Given the description of an element on the screen output the (x, y) to click on. 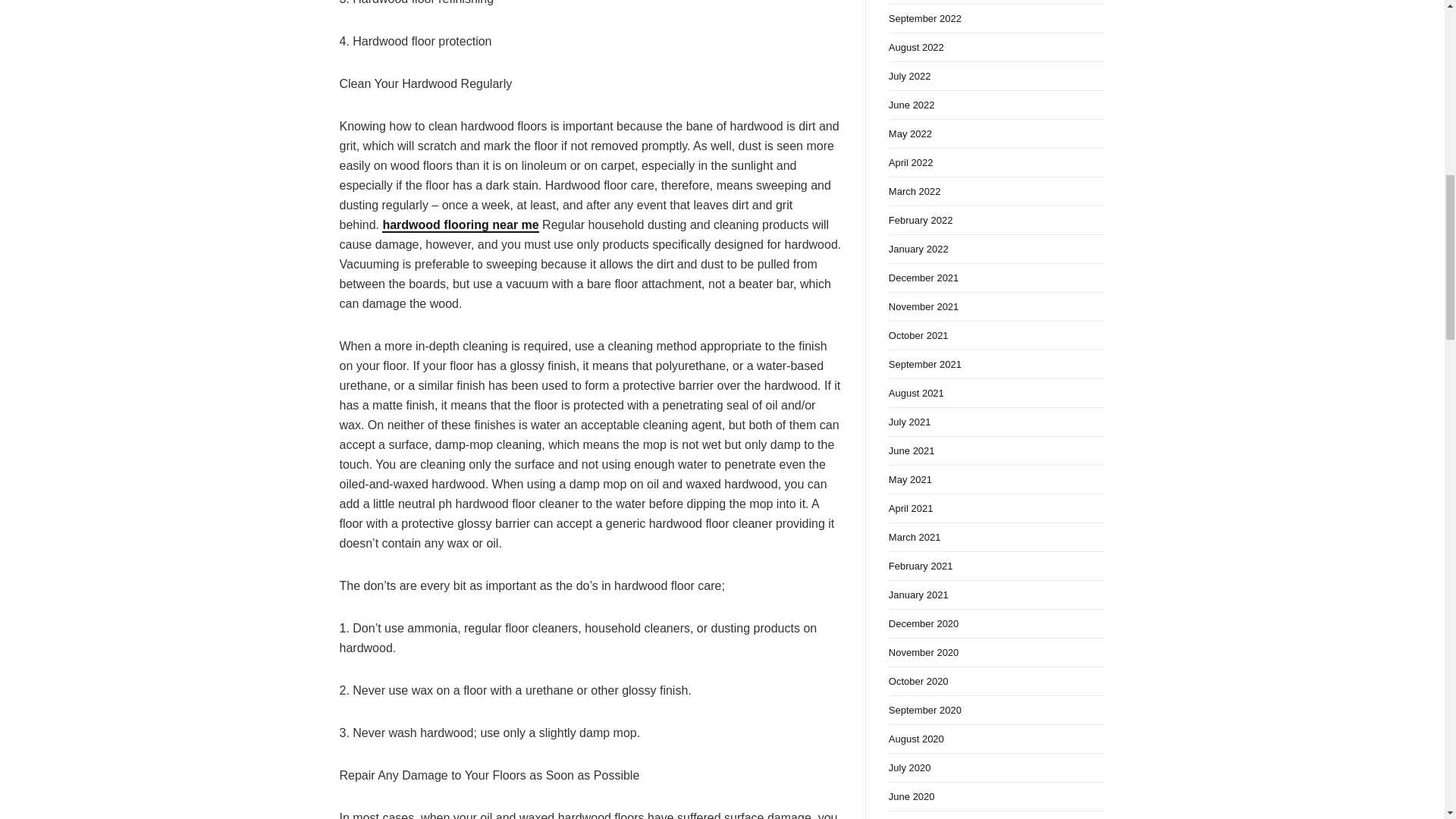
hardwood flooring near me (459, 225)
